Given the description of an element on the screen output the (x, y) to click on. 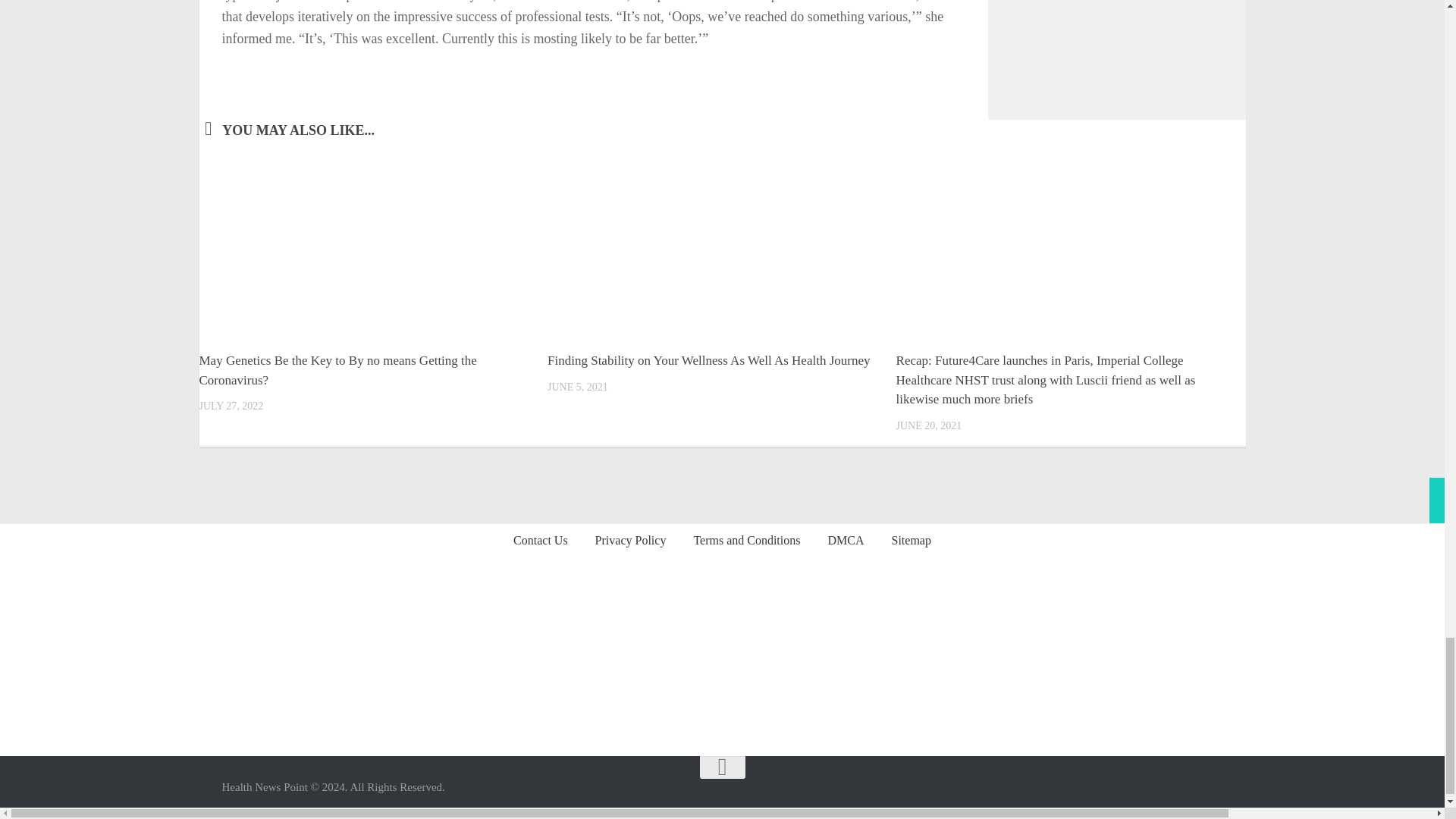
Sitemap (910, 540)
Privacy Policy (629, 540)
Contact Us (539, 540)
DMCA (845, 540)
Terms and Conditions (746, 540)
Finding Stability on Your Wellness As Well As Health Journey (708, 359)
